Given the description of an element on the screen output the (x, y) to click on. 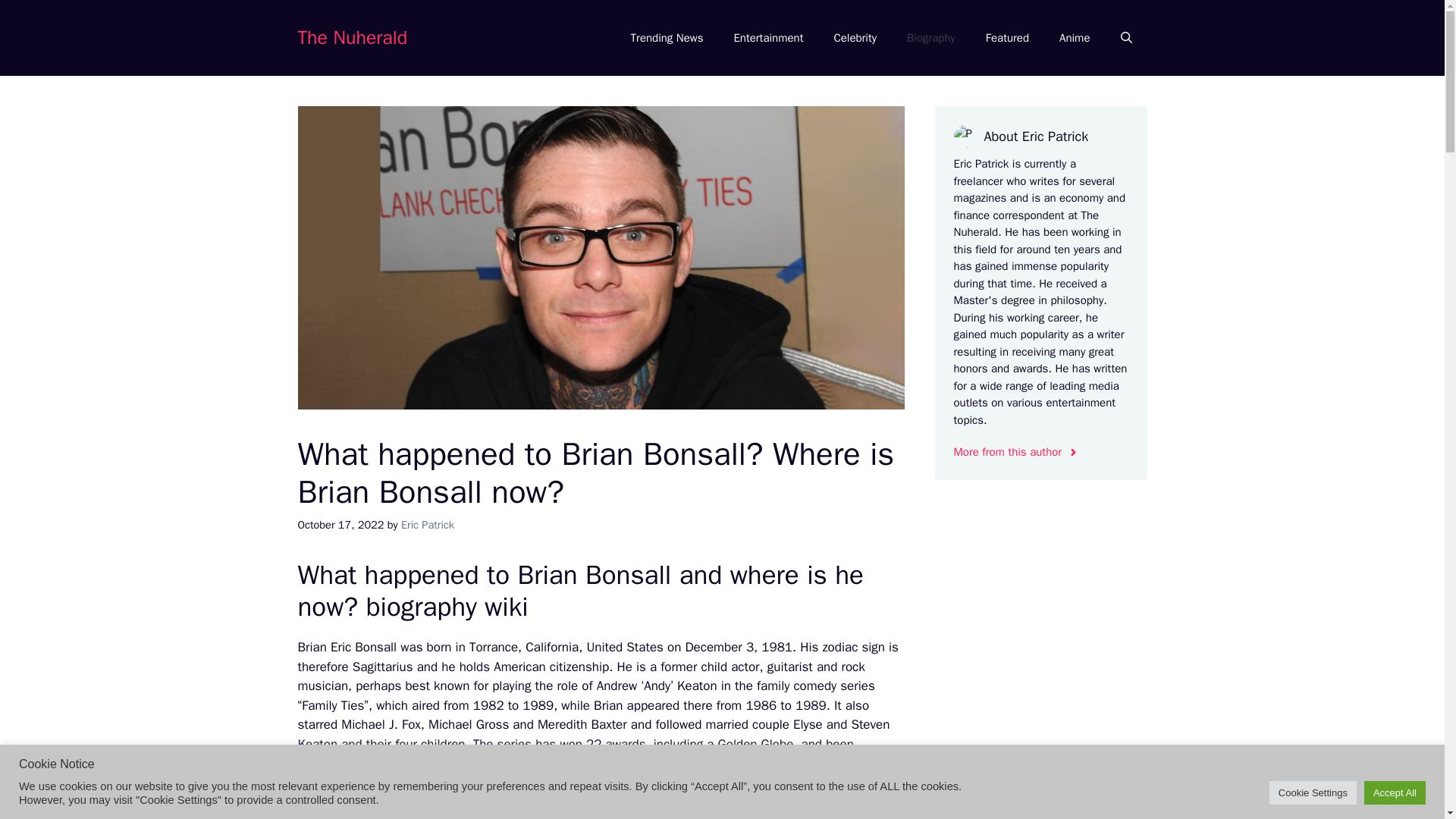
Featured (1007, 37)
Cookie Settings (1312, 792)
Celebrity (854, 37)
Entertainment (767, 37)
View all posts by Eric Patrick (427, 524)
Anime (1074, 37)
Eric Patrick (427, 524)
Trending News (667, 37)
Biography (931, 37)
More from this author (1015, 452)
